Given the description of an element on the screen output the (x, y) to click on. 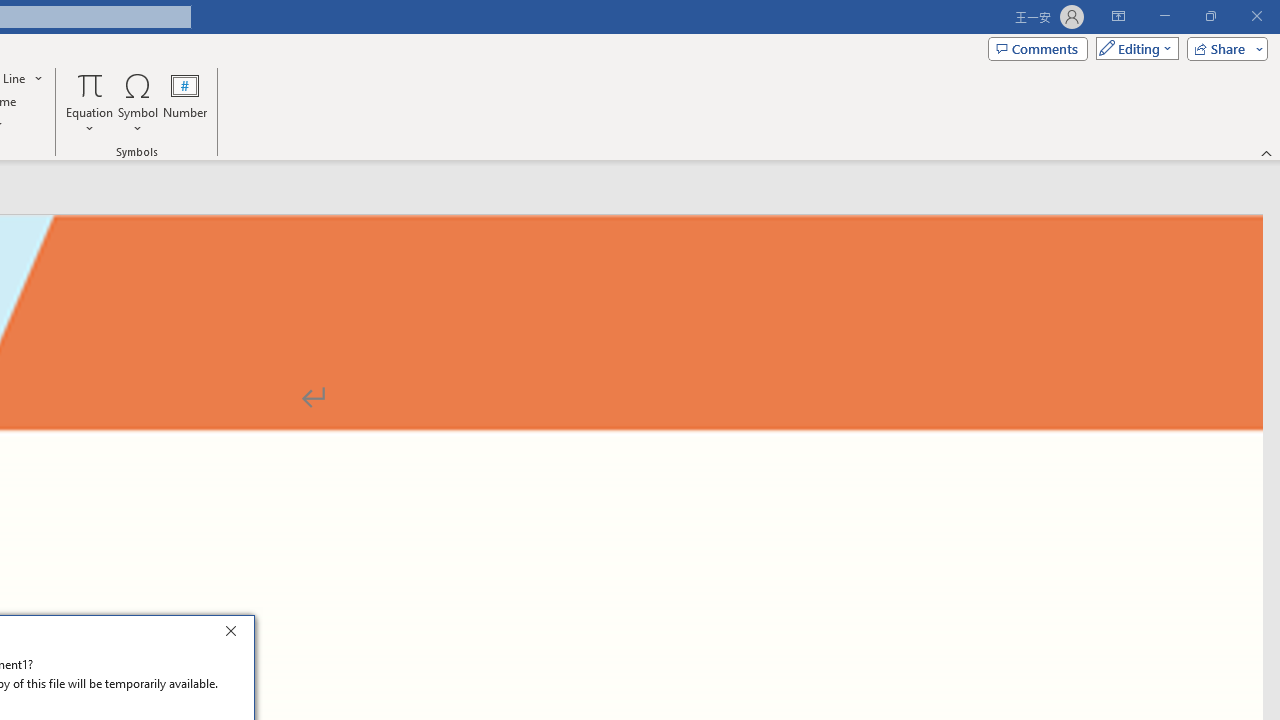
Equation (90, 84)
Mode (1133, 47)
Number... (185, 102)
Symbol (138, 102)
Equation (90, 102)
